Given the description of an element on the screen output the (x, y) to click on. 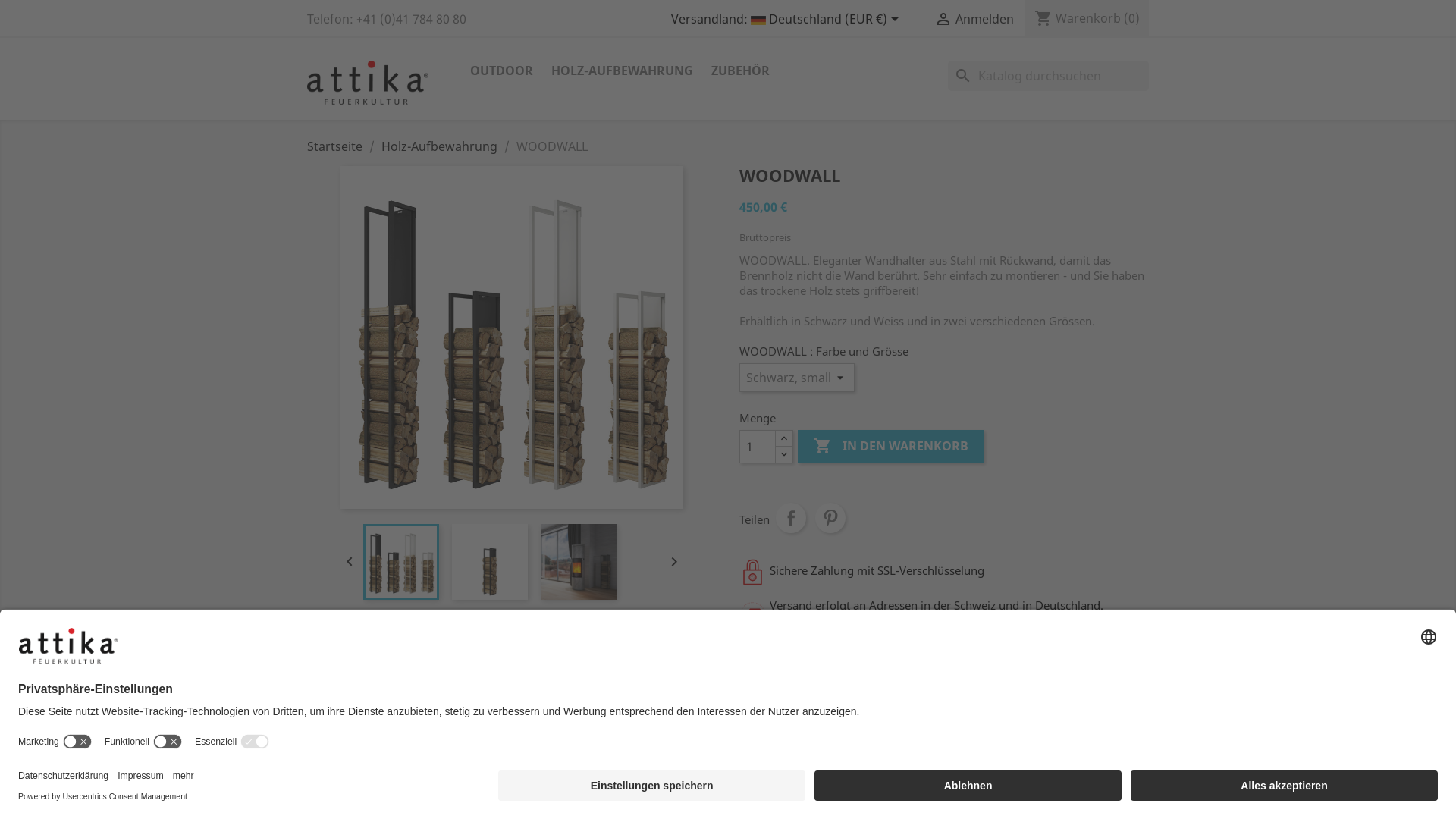
OUTDOOR Element type: text (501, 71)
Holz-Aufbewahrung Element type: text (439, 146)
Startseite Element type: text (334, 146)
Teilen Element type: text (790, 517)
HOLZ-AUFBEWAHRUNG Element type: text (621, 71)
Beschreibung Element type: text (813, 735)
Artikeldetails Element type: text (917, 734)
Pinterest Element type: text (830, 517)
